Given the description of an element on the screen output the (x, y) to click on. 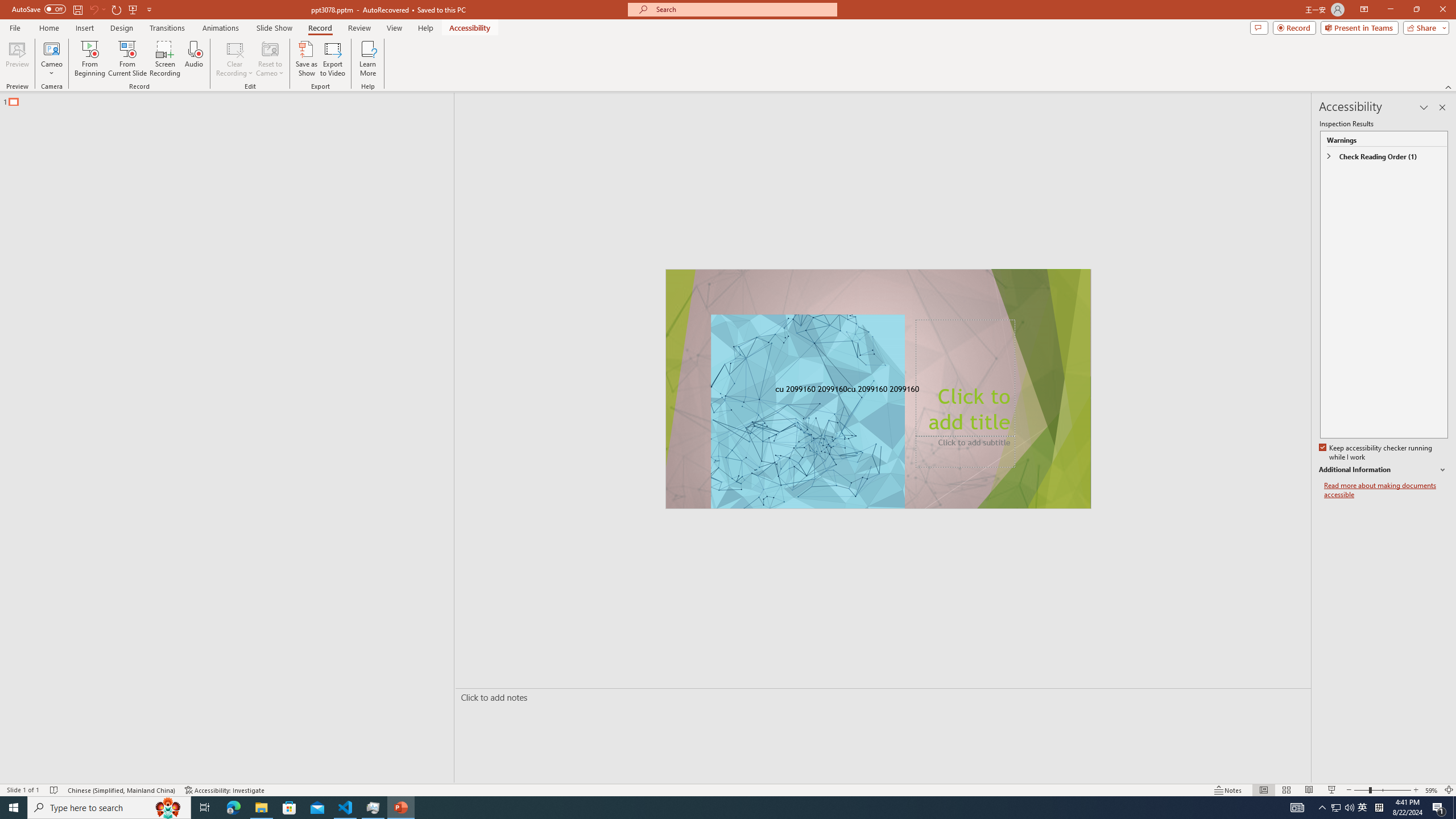
Screen Recording (165, 58)
Clear Recording (234, 58)
Preview (17, 58)
